Given the description of an element on the screen output the (x, y) to click on. 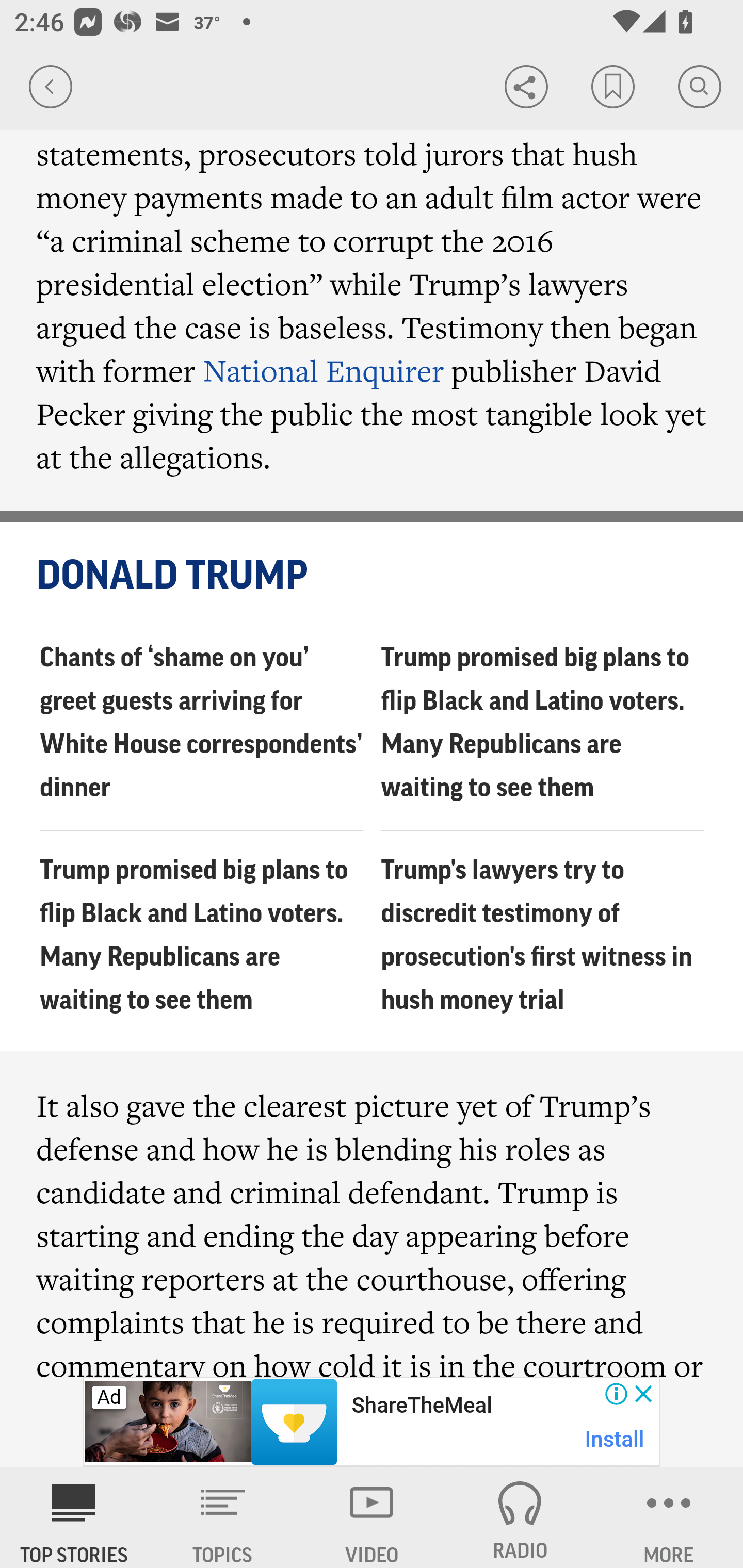
National Enquirer (323, 370)
DONALD TRUMP (372, 575)
ShareTheMeal (420, 1405)
Install (614, 1438)
AP News TOP STORIES (74, 1517)
TOPICS (222, 1517)
VIDEO (371, 1517)
RADIO (519, 1517)
MORE (668, 1517)
